Given the description of an element on the screen output the (x, y) to click on. 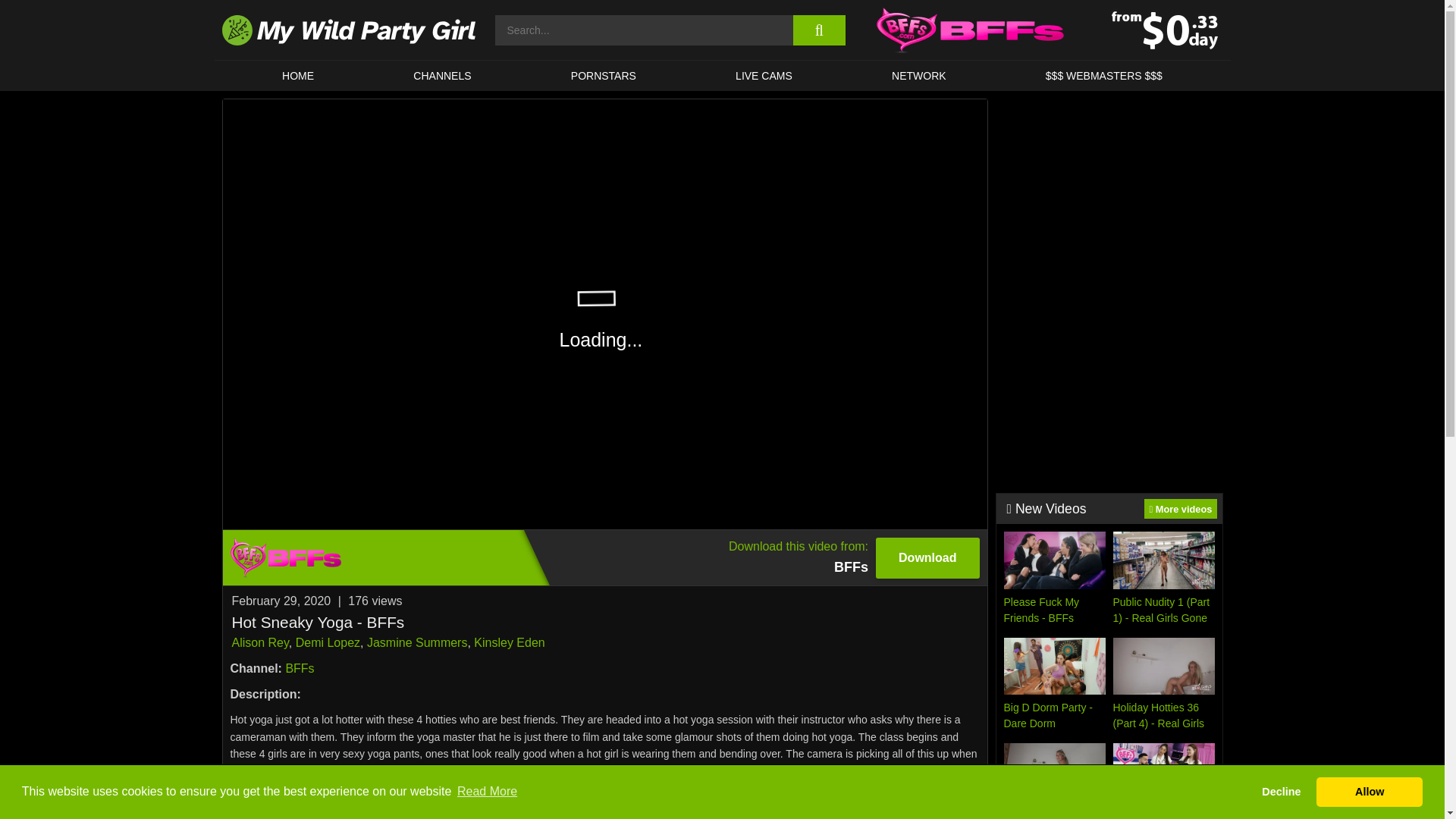
HOME (296, 75)
NETWORK (918, 75)
Demi Lopez (327, 642)
Jasmine Summers (416, 642)
PORNSTARS (603, 75)
LIVE CAMS (763, 75)
Alison Rey (259, 642)
Play Video (604, 313)
Kinsley Eden (509, 642)
